Given the description of an element on the screen output the (x, y) to click on. 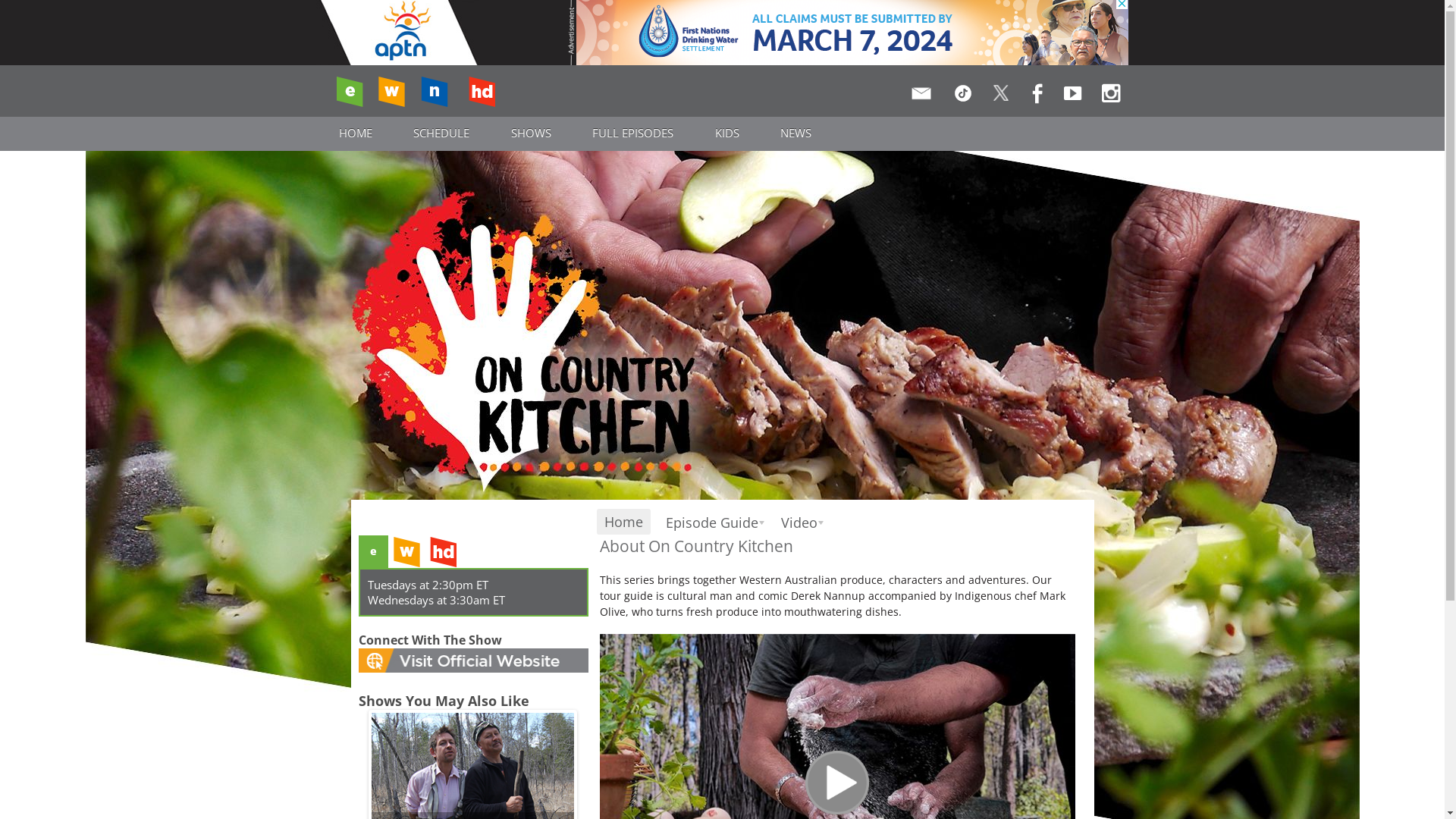
W Element type: text (390, 91)
N Element type: text (434, 91)
HOME Element type: text (355, 132)
E Element type: text (348, 91)
Follow APTNtv on Twitter Element type: hover (1002, 97)
KIDS Element type: text (727, 132)
NEWS Element type: text (795, 132)
SCHEDULE Element type: text (441, 132)
Home Element type: text (622, 521)
FULL EPISODES Element type: text (632, 132)
HD Element type: text (481, 91)
Contact Us Element type: hover (923, 97)
Follow APTNtv on Instagram Element type: hover (1109, 97)
SHOWS Element type: text (531, 132)
APTNtv tiktok Element type: hover (963, 97)
Find Us on Facebook Element type: hover (1037, 97)
Video Element type: text (799, 522)
Episode Guide Element type: text (711, 522)
Watch APTNtv on Youtube Element type: hover (1075, 97)
